Given the description of an element on the screen output the (x, y) to click on. 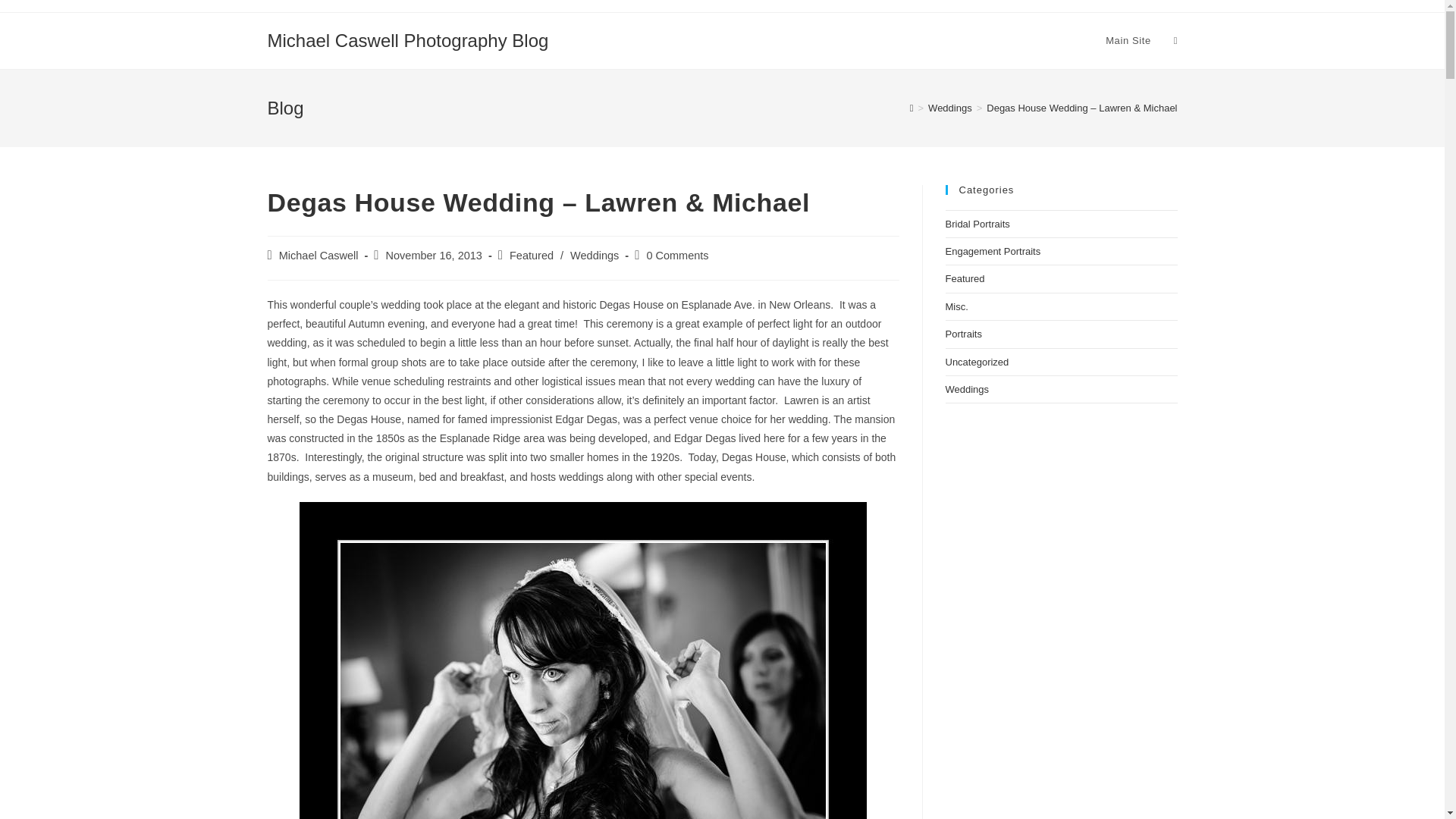
Misc. (956, 306)
Main Site (1127, 40)
Michael Caswell Photography Blog (407, 40)
Featured (531, 255)
Featured (964, 278)
Weddings (594, 255)
Posts by Michael Caswell (318, 255)
Uncategorized (976, 361)
Weddings (950, 107)
Engagement Portraits (992, 251)
